Given the description of an element on the screen output the (x, y) to click on. 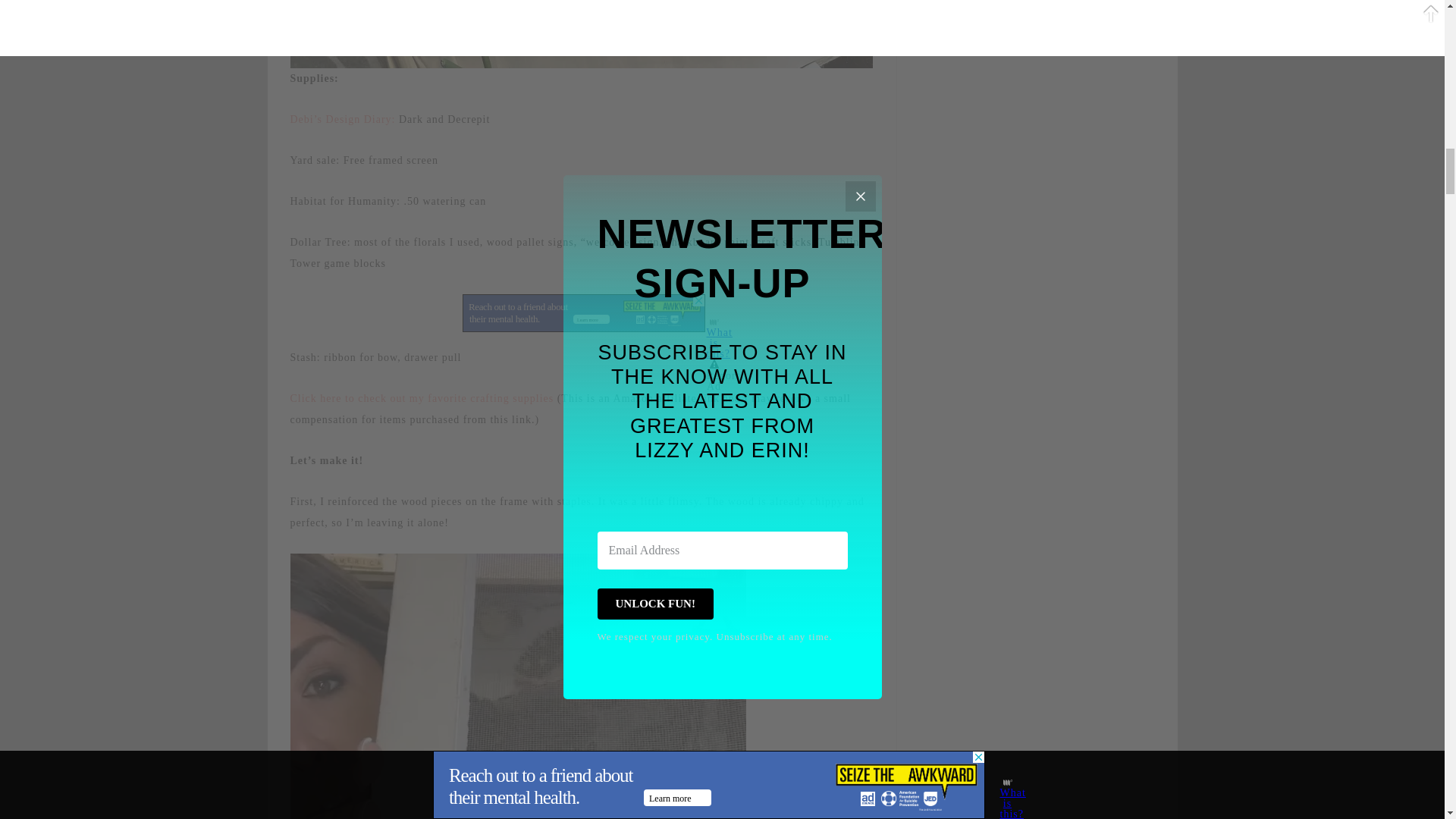
Click here to check out my favorite crafting supplies (421, 398)
3rd party ad content (583, 313)
